Given the description of an element on the screen output the (x, y) to click on. 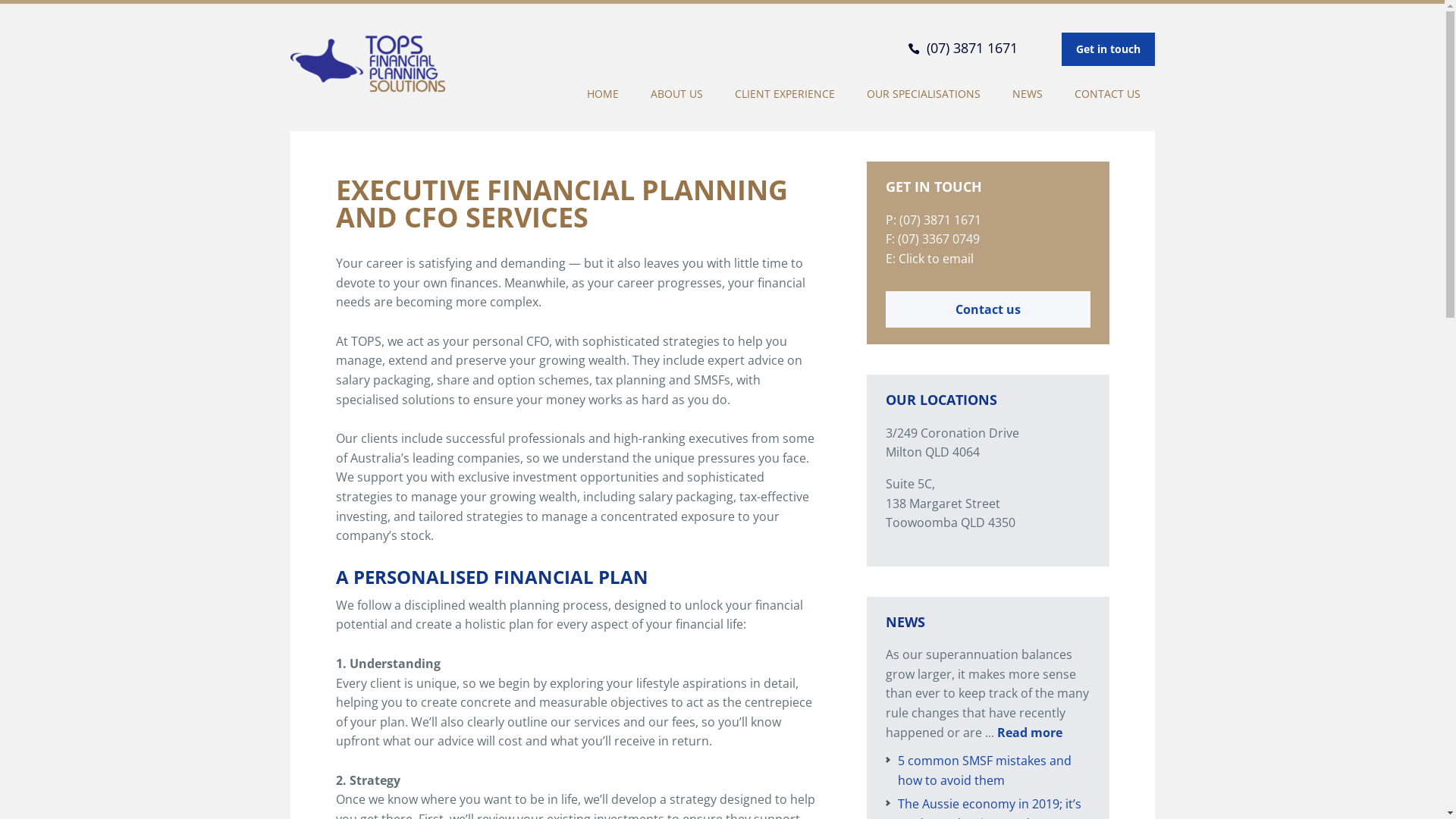
Click to email Element type: text (934, 258)
ABOUT US Element type: text (675, 93)
TOPS Financial Planning Solutions Element type: text (366, 78)
CLIENT EXPERIENCE Element type: text (784, 93)
5 common SMSF mistakes and how to avoid them Element type: text (984, 770)
Read more Element type: text (1028, 732)
CONTACT US Element type: text (1107, 93)
Get in touch Element type: text (1107, 48)
NEWS Element type: text (1027, 93)
(07) 3871 1671 Element type: text (983, 48)
HOME Element type: text (601, 93)
OUR SPECIALISATIONS Element type: text (923, 93)
Contact us Element type: text (987, 309)
